Given the description of an element on the screen output the (x, y) to click on. 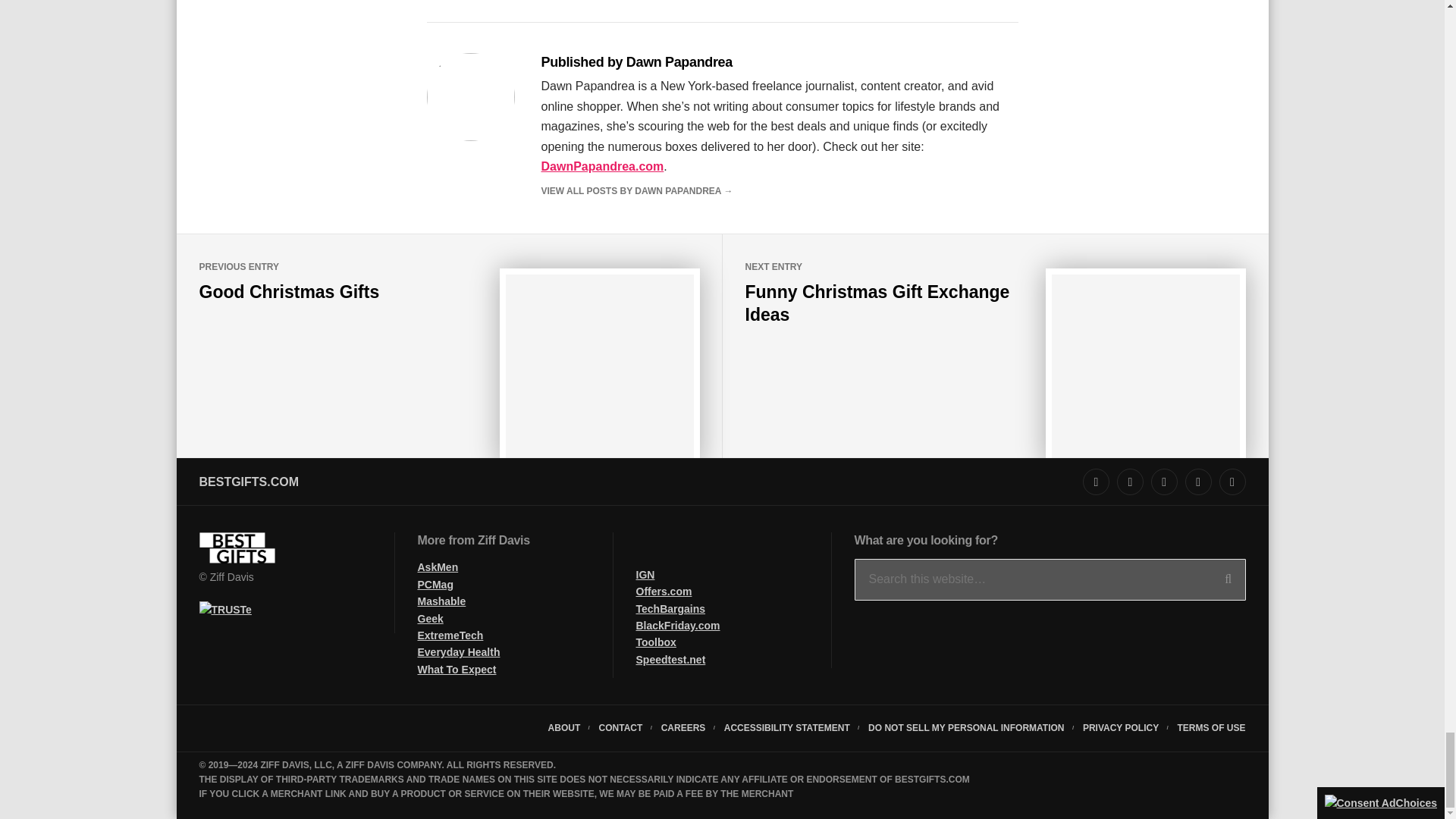
Twitter (1129, 481)
Search for: (1048, 578)
Instagram (1096, 481)
Flipboard (1233, 481)
Pinterest (1198, 481)
Facebook (1164, 481)
